Given the description of an element on the screen output the (x, y) to click on. 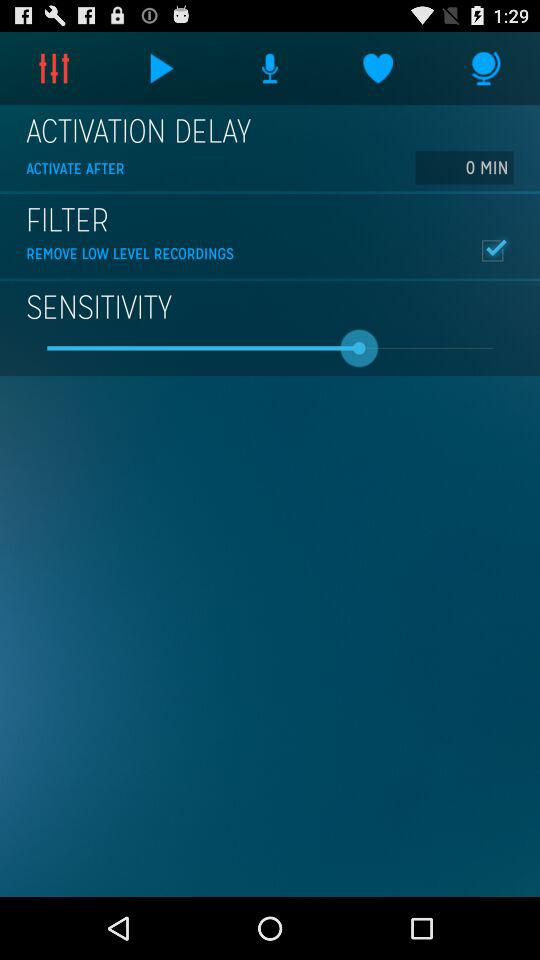
turn off the icon below the activation delay (464, 167)
